Given the description of an element on the screen output the (x, y) to click on. 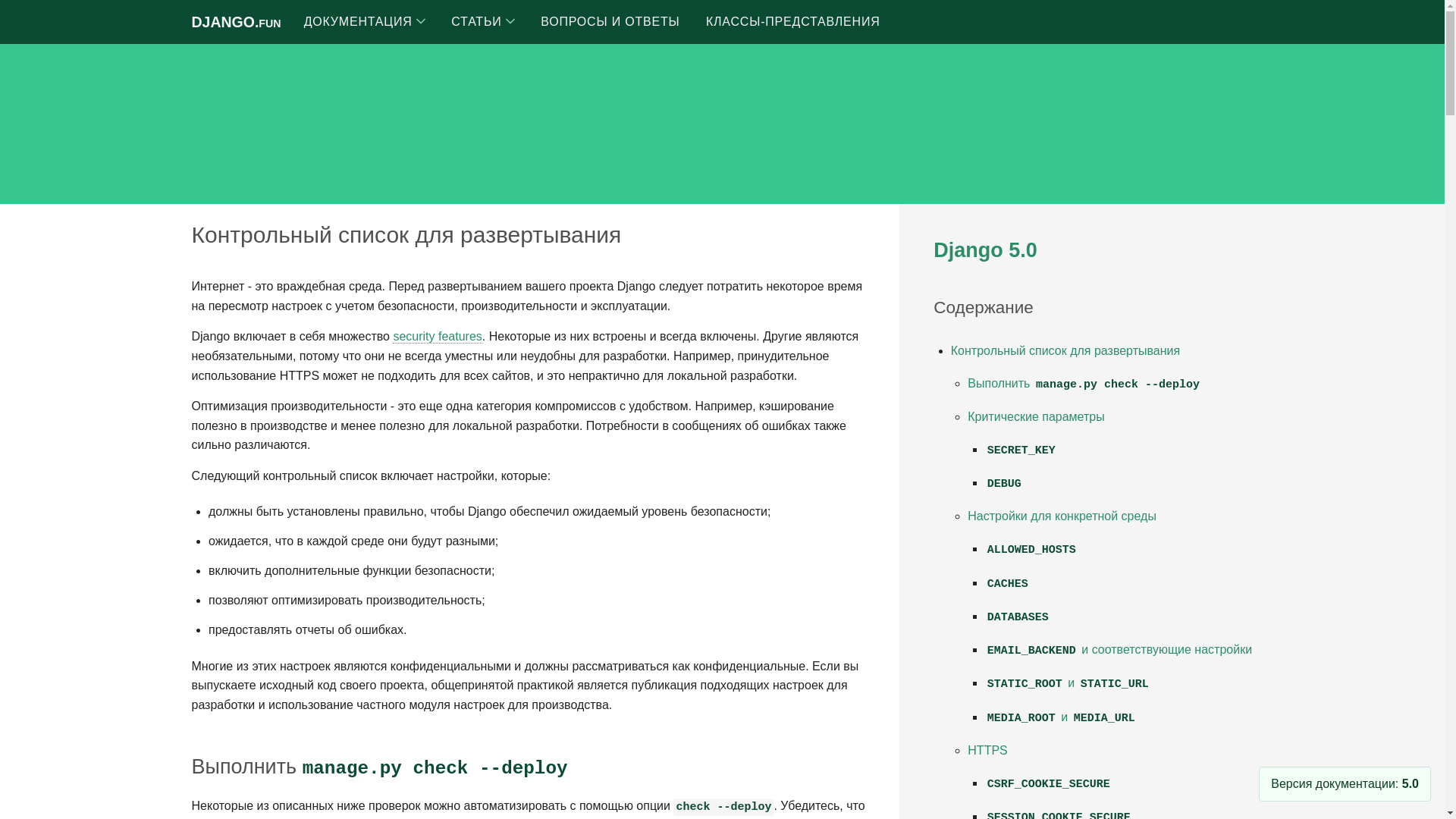
DJANGO.FUN (235, 21)
security features (437, 336)
check --deploy (722, 806)
